Given the description of an element on the screen output the (x, y) to click on. 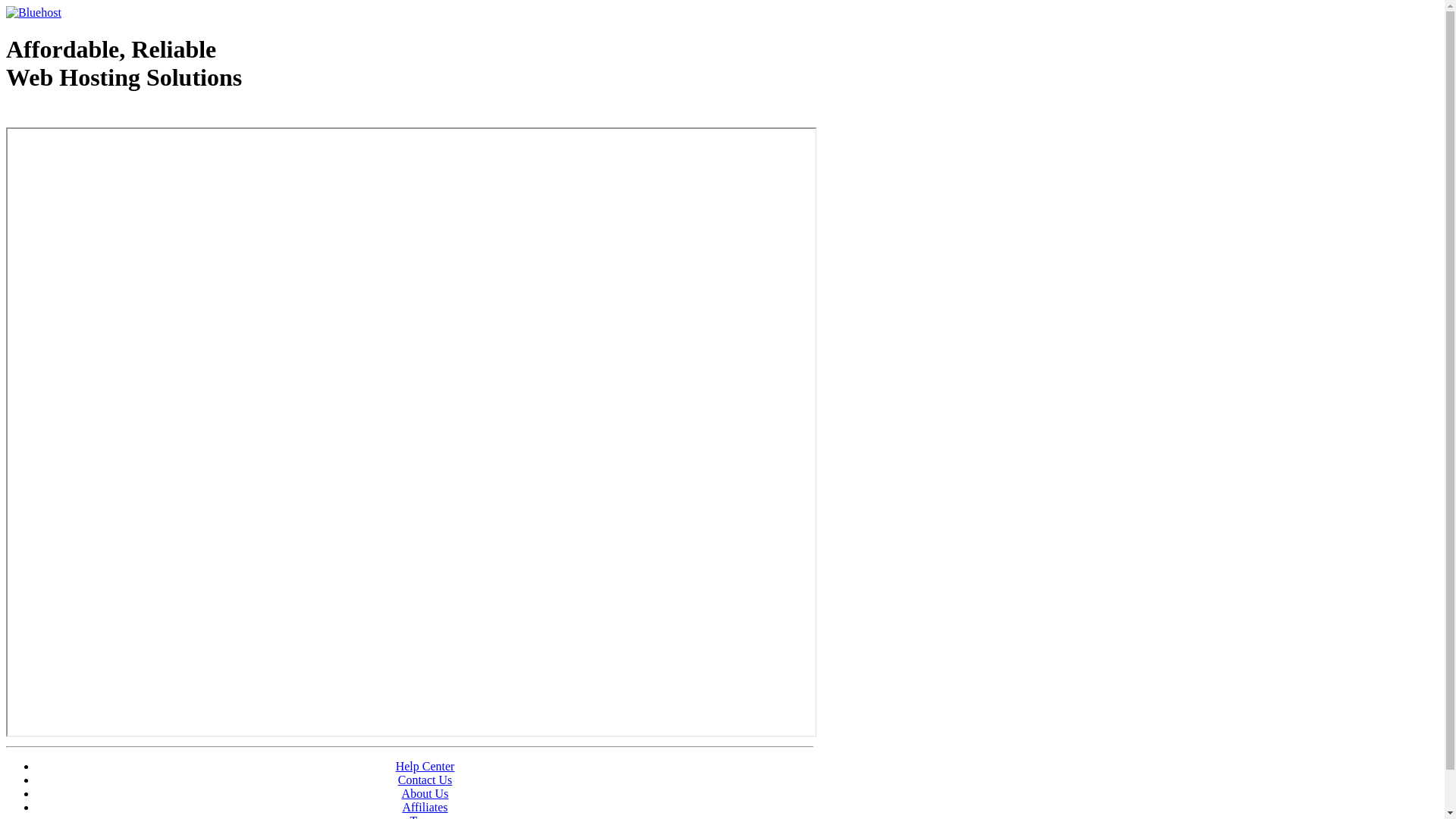
Contact Us Element type: text (425, 779)
Web Hosting - courtesy of www.bluehost.com Element type: text (94, 115)
Affiliates Element type: text (424, 806)
About Us Element type: text (424, 793)
Help Center Element type: text (425, 765)
